Given the description of an element on the screen output the (x, y) to click on. 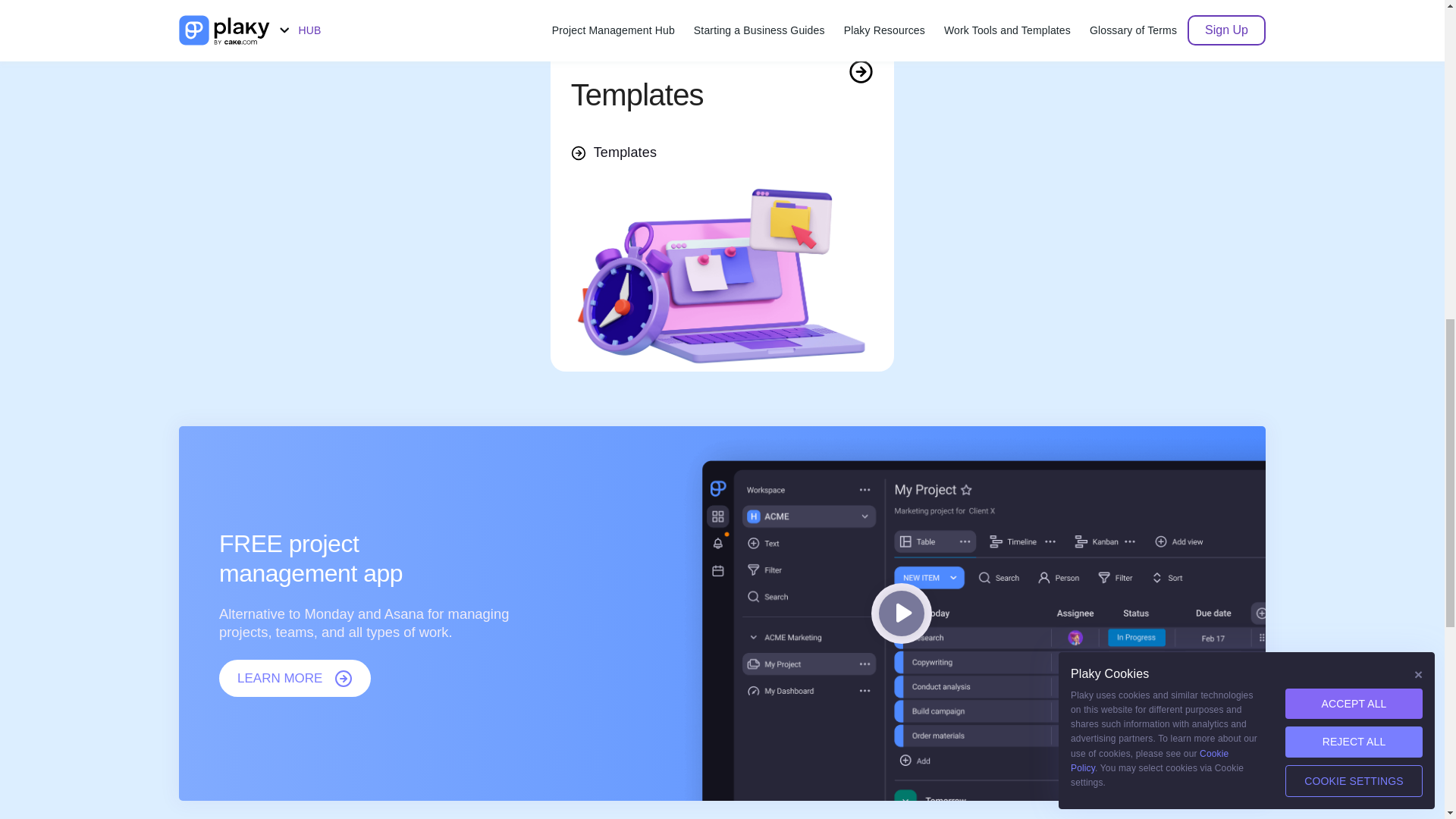
Work Tools and Templates (722, 71)
LEARN MORE (295, 678)
Templates (613, 152)
